Given the description of an element on the screen output the (x, y) to click on. 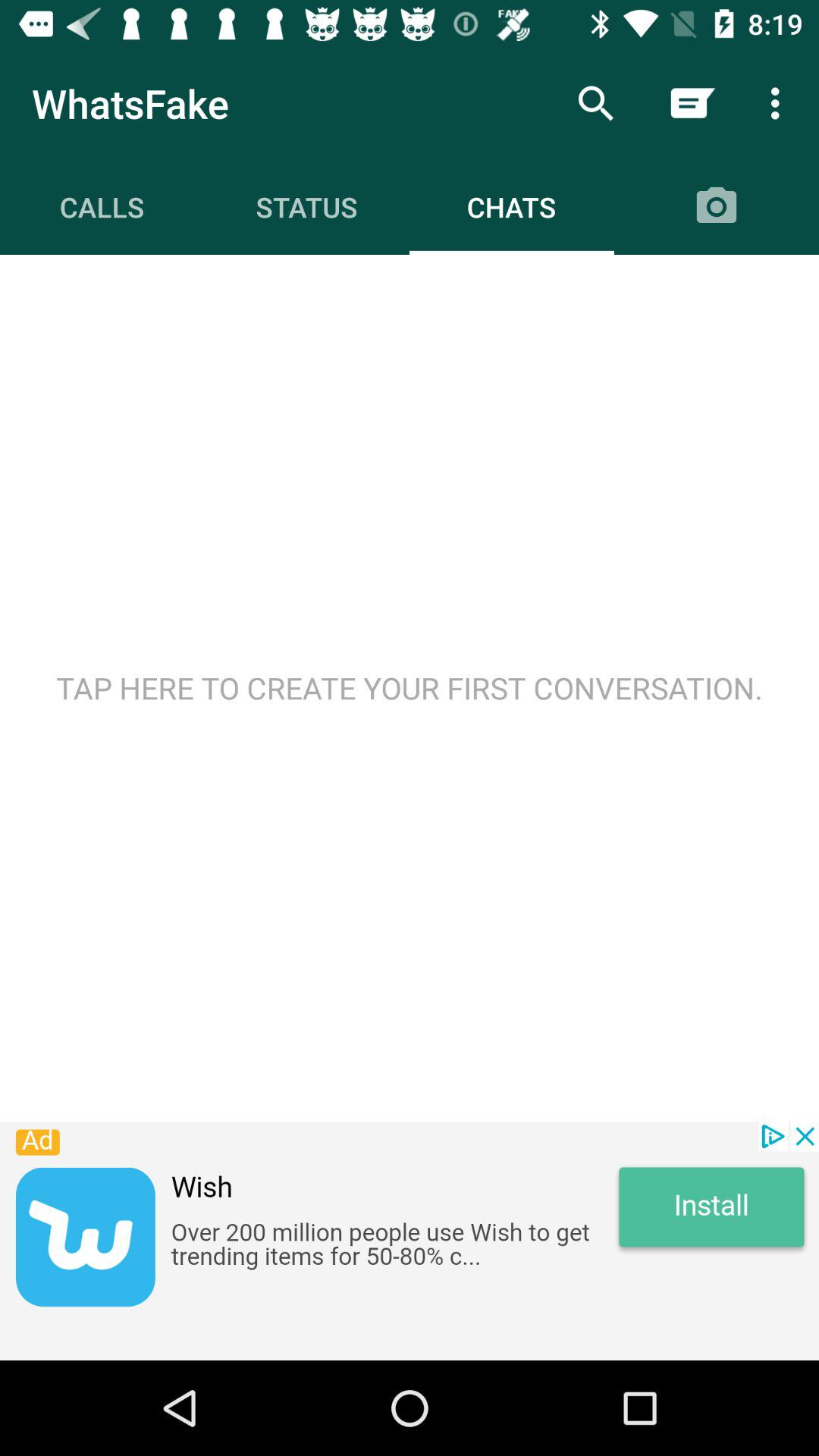
view this advertisement (409, 1240)
